Given the description of an element on the screen output the (x, y) to click on. 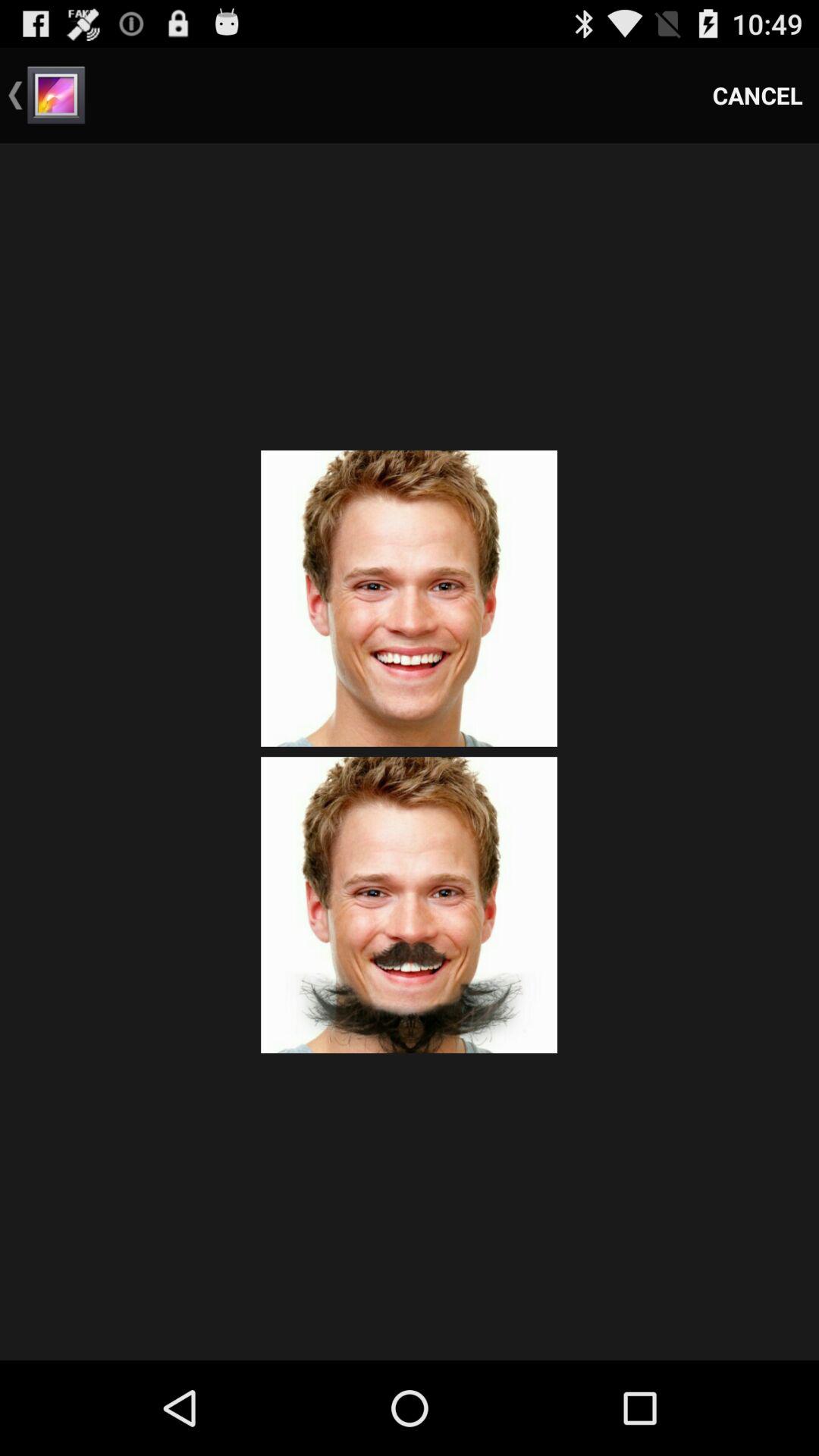
flip until cancel (757, 95)
